Given the description of an element on the screen output the (x, y) to click on. 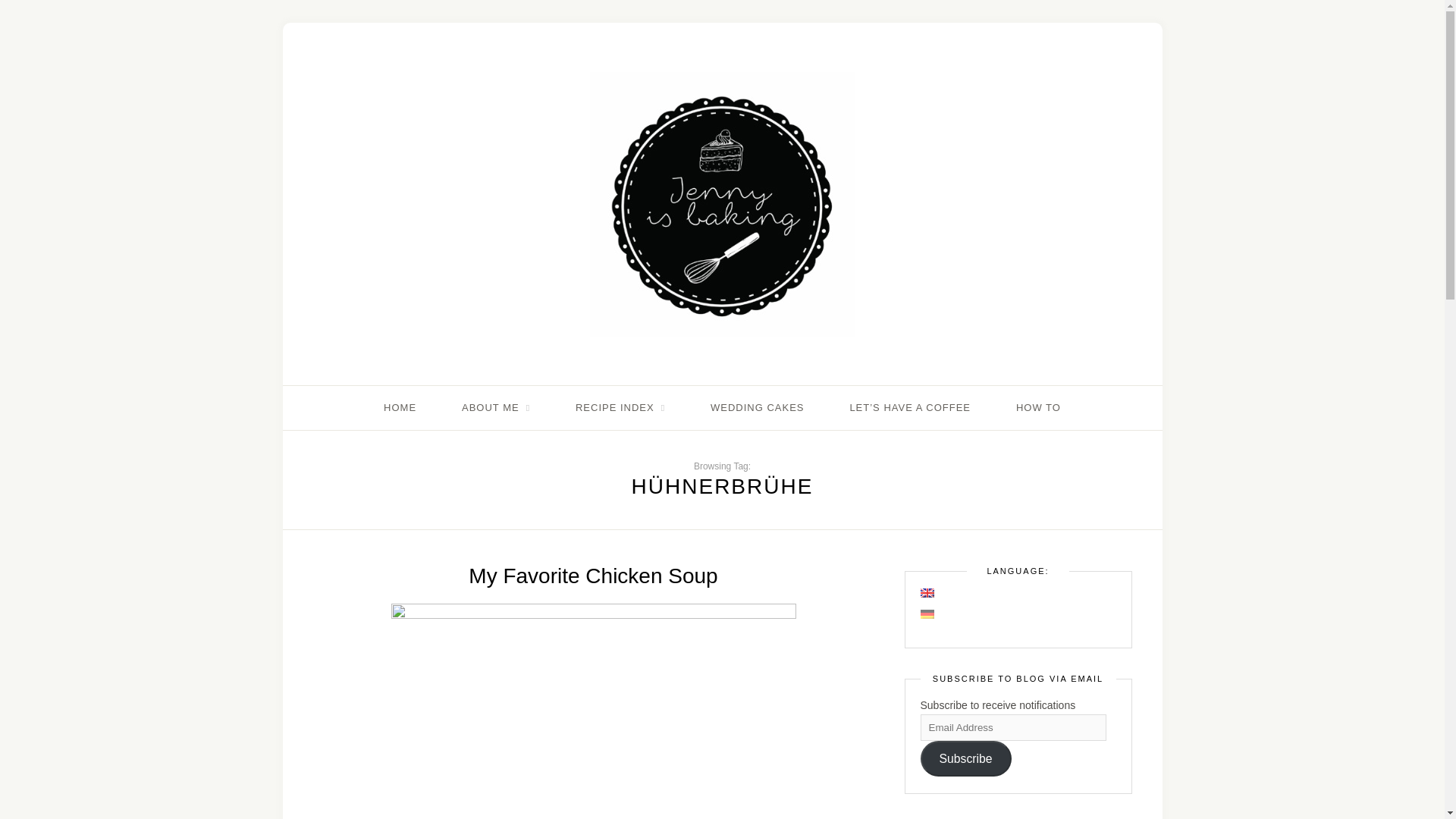
ABOUT ME (495, 407)
My Favorite Chicken Soup (592, 576)
WEDDING CAKES (757, 407)
RECIPE INDEX (620, 407)
HOW TO (1038, 407)
